Given the description of an element on the screen output the (x, y) to click on. 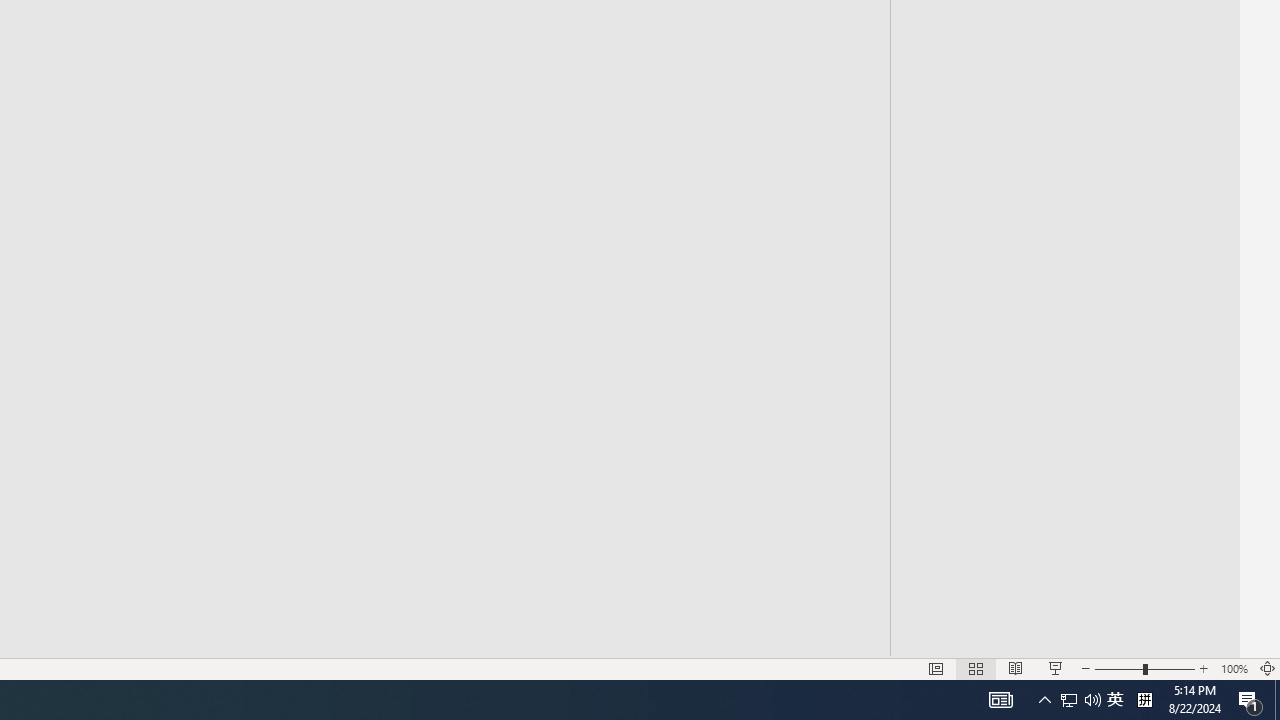
Zoom 100% (1234, 668)
